Given the description of an element on the screen output the (x, y) to click on. 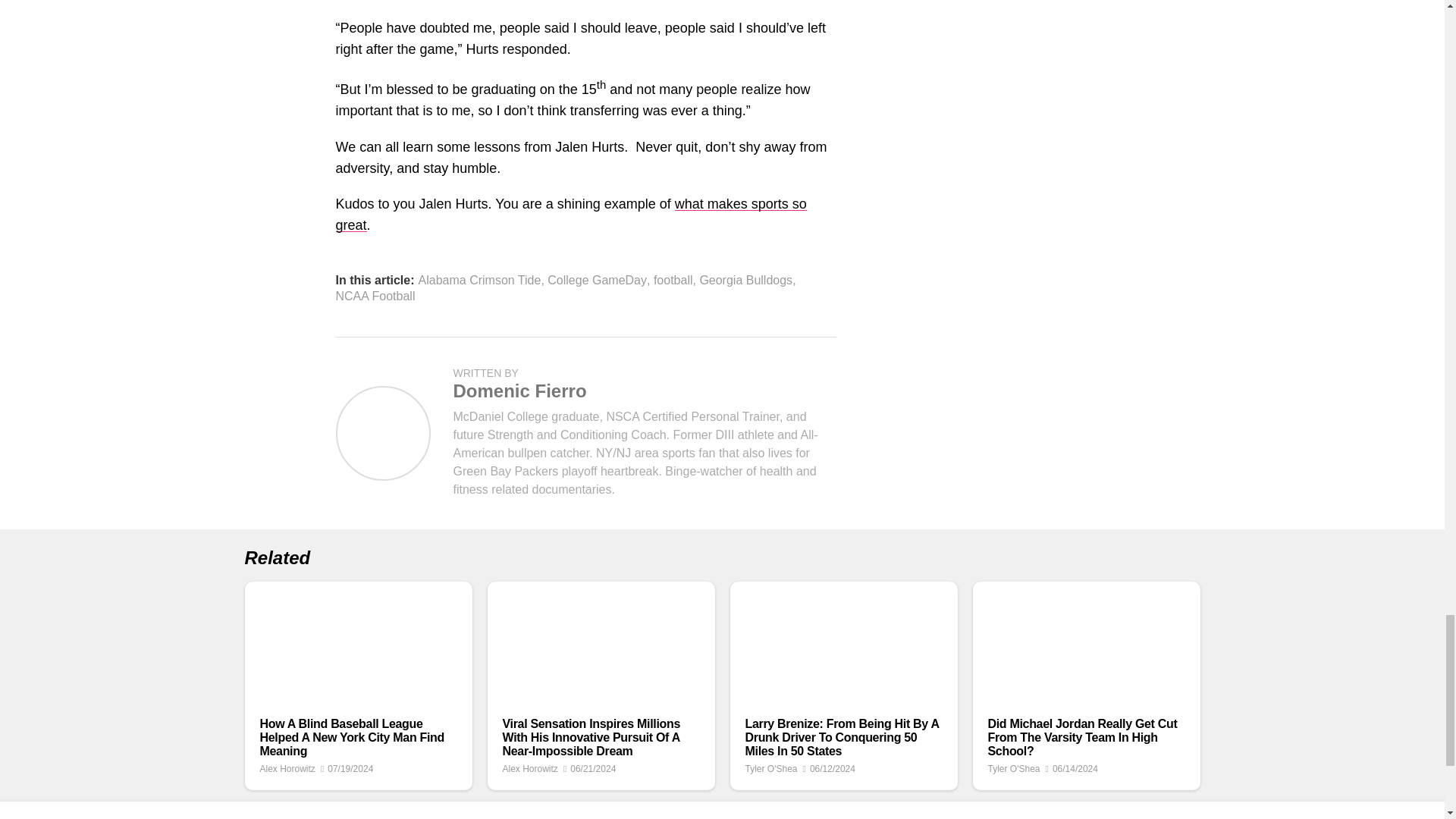
Posts by Alex Horowitz (529, 768)
Posts by Tyler O'Shea (1013, 768)
Posts by Alex Horowitz (286, 768)
Posts by Tyler O'Shea (770, 768)
Posts by Domenic Fierro (519, 390)
